Given the description of an element on the screen output the (x, y) to click on. 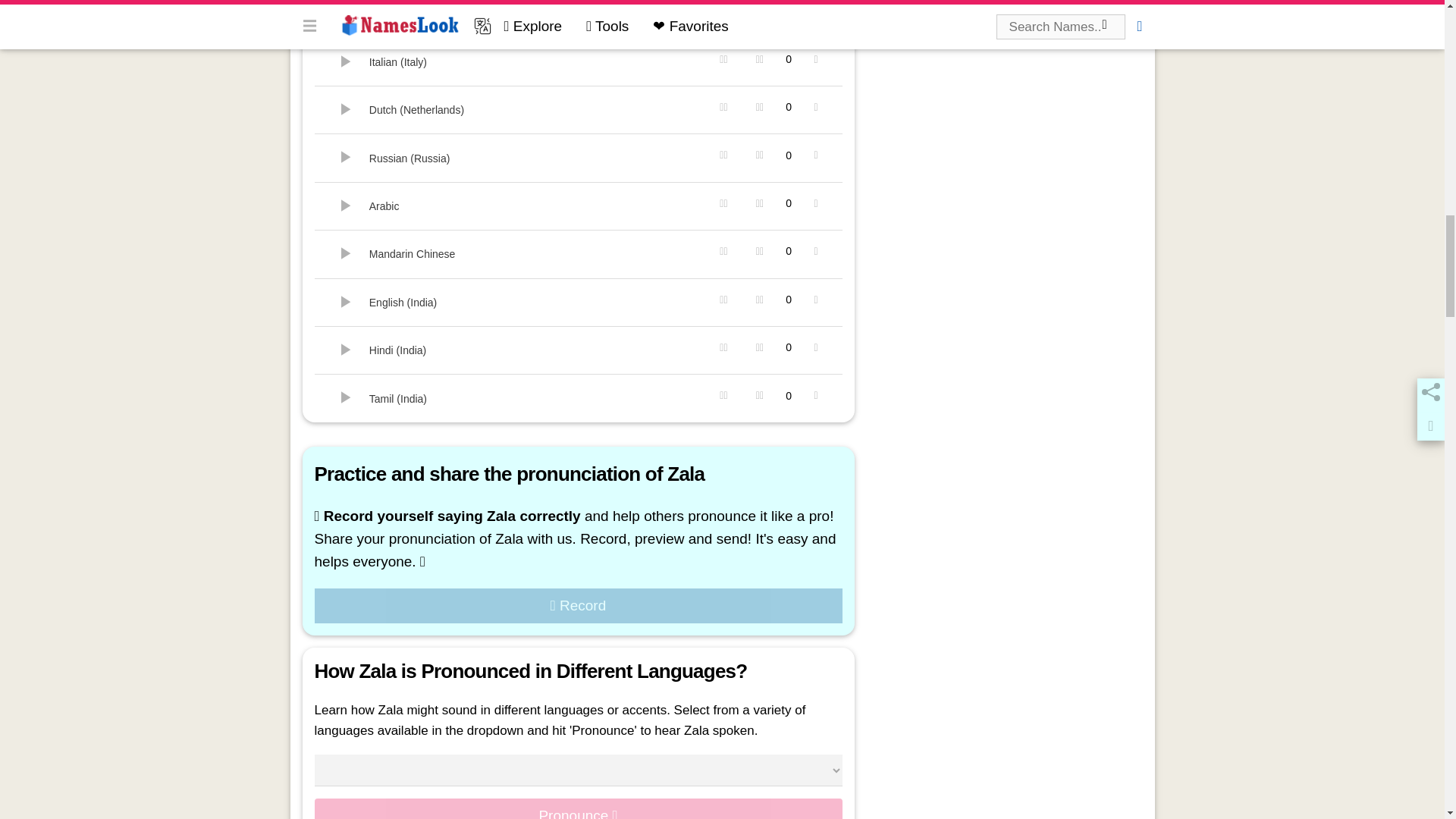
Mandarin Chinese (345, 253)
Arabic (345, 206)
